Given the description of an element on the screen output the (x, y) to click on. 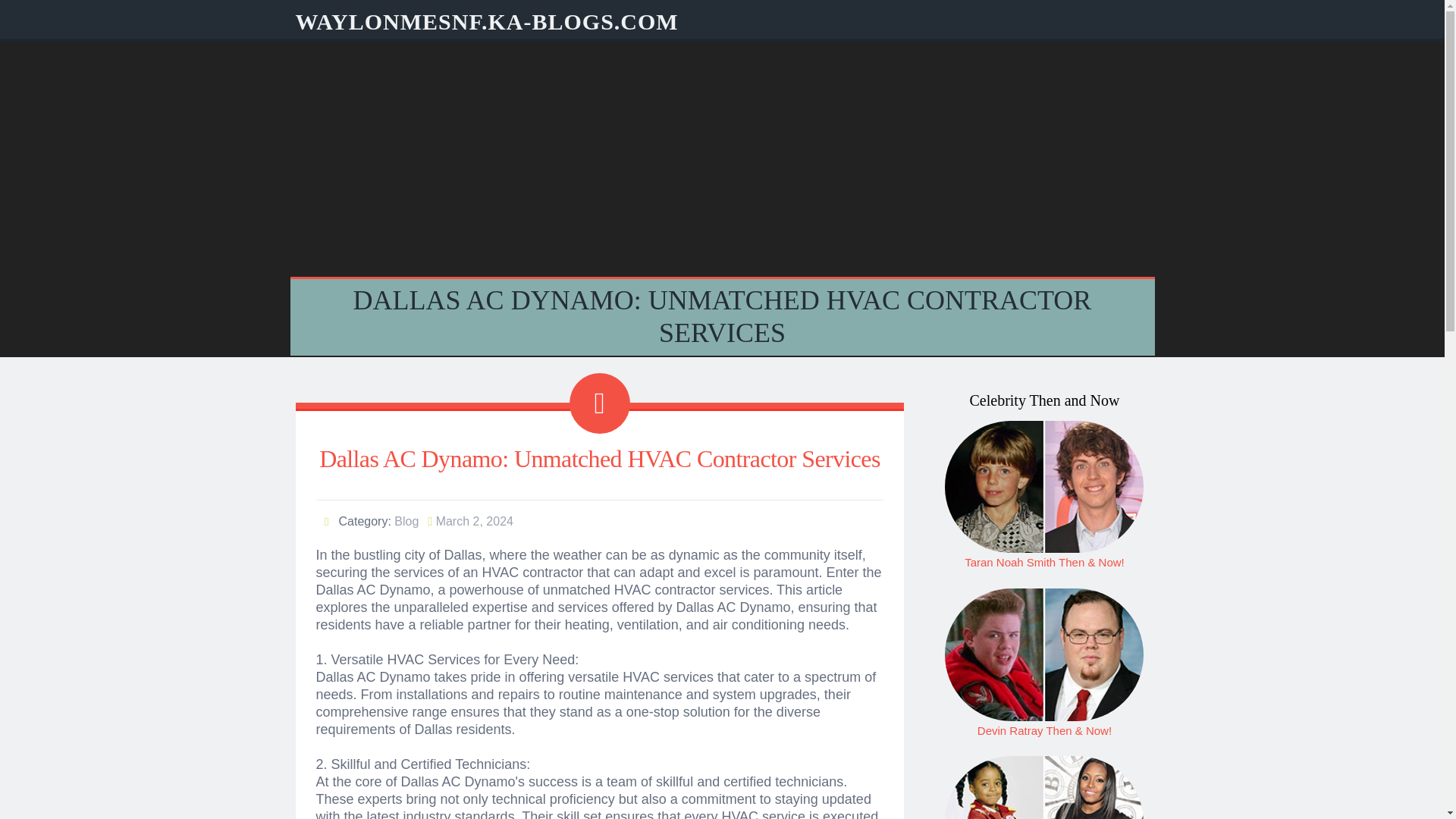
WAYLONMESNF.KA-BLOGS.COM (486, 21)
March 2, 2024 (474, 521)
Skip to content (37, 9)
Blog (406, 521)
